Given the description of an element on the screen output the (x, y) to click on. 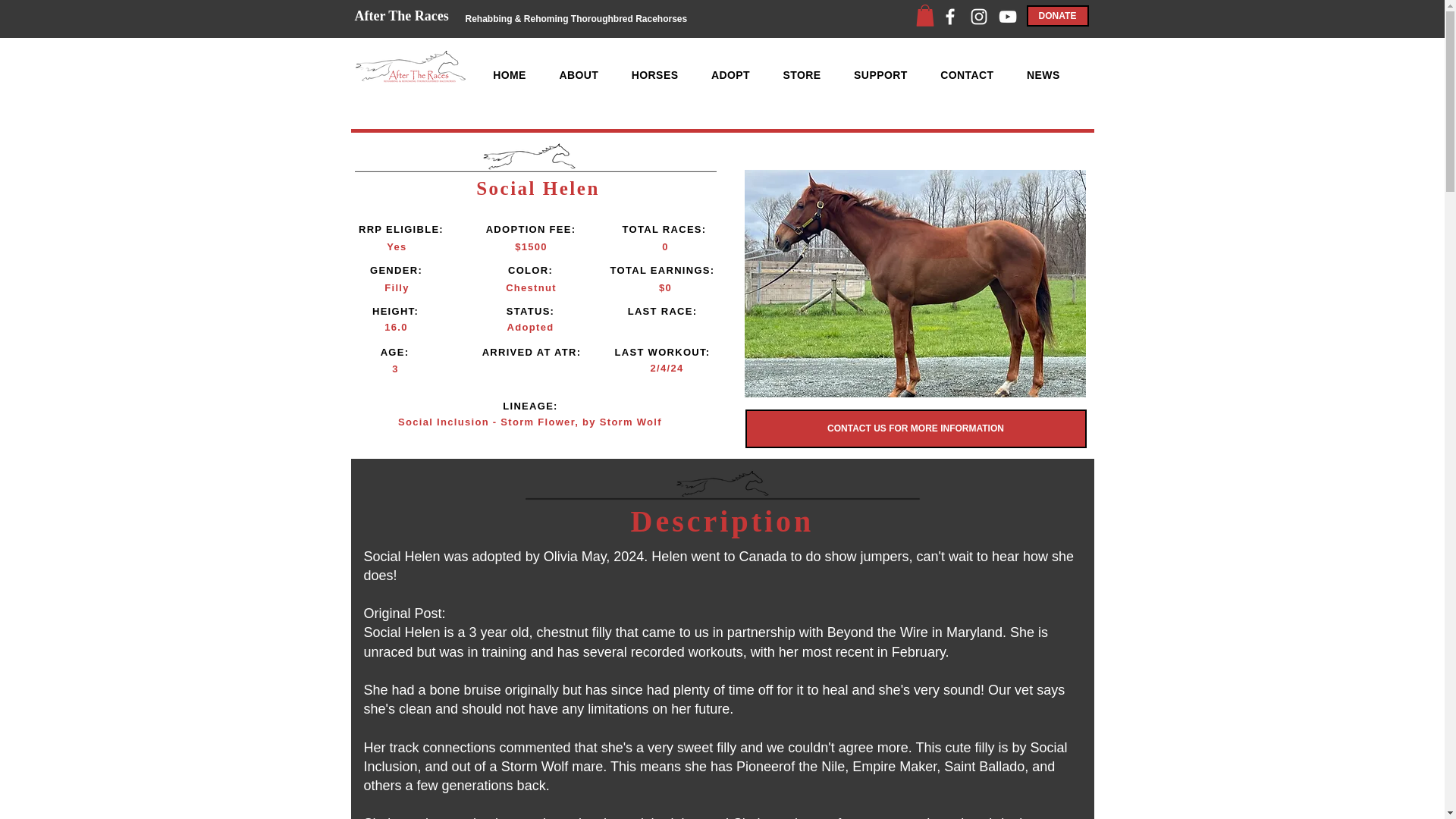
CONTACT US FOR MORE INFORMATION (915, 428)
DONATE (1057, 15)
HORSES (654, 74)
SUPPORT (880, 74)
CONTACT (966, 74)
ABOUT (578, 74)
HOME (508, 74)
STORE (802, 74)
ADOPT (730, 74)
NEWS (1042, 74)
